Given the description of an element on the screen output the (x, y) to click on. 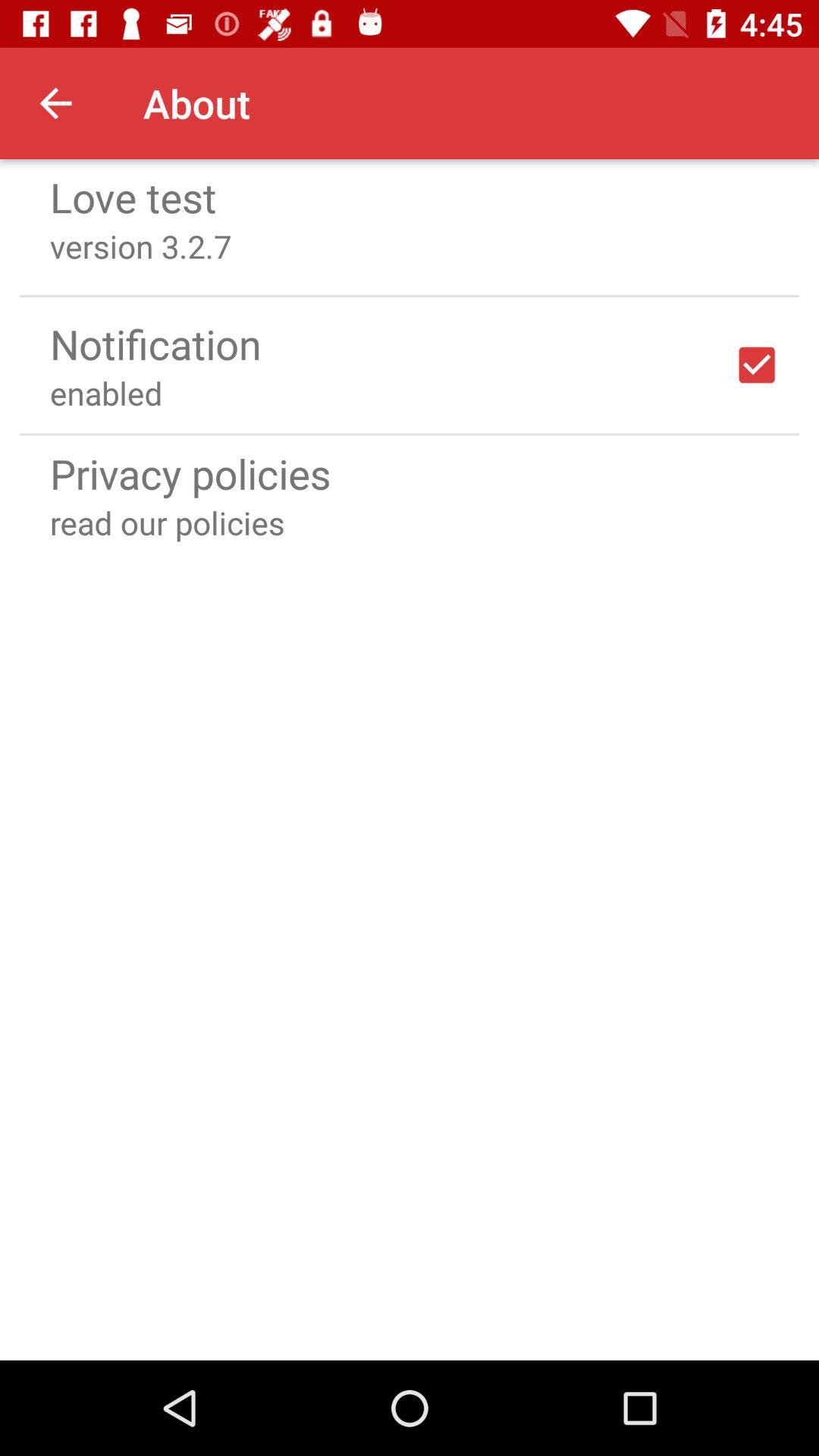
press item above the love test (55, 103)
